Given the description of an element on the screen output the (x, y) to click on. 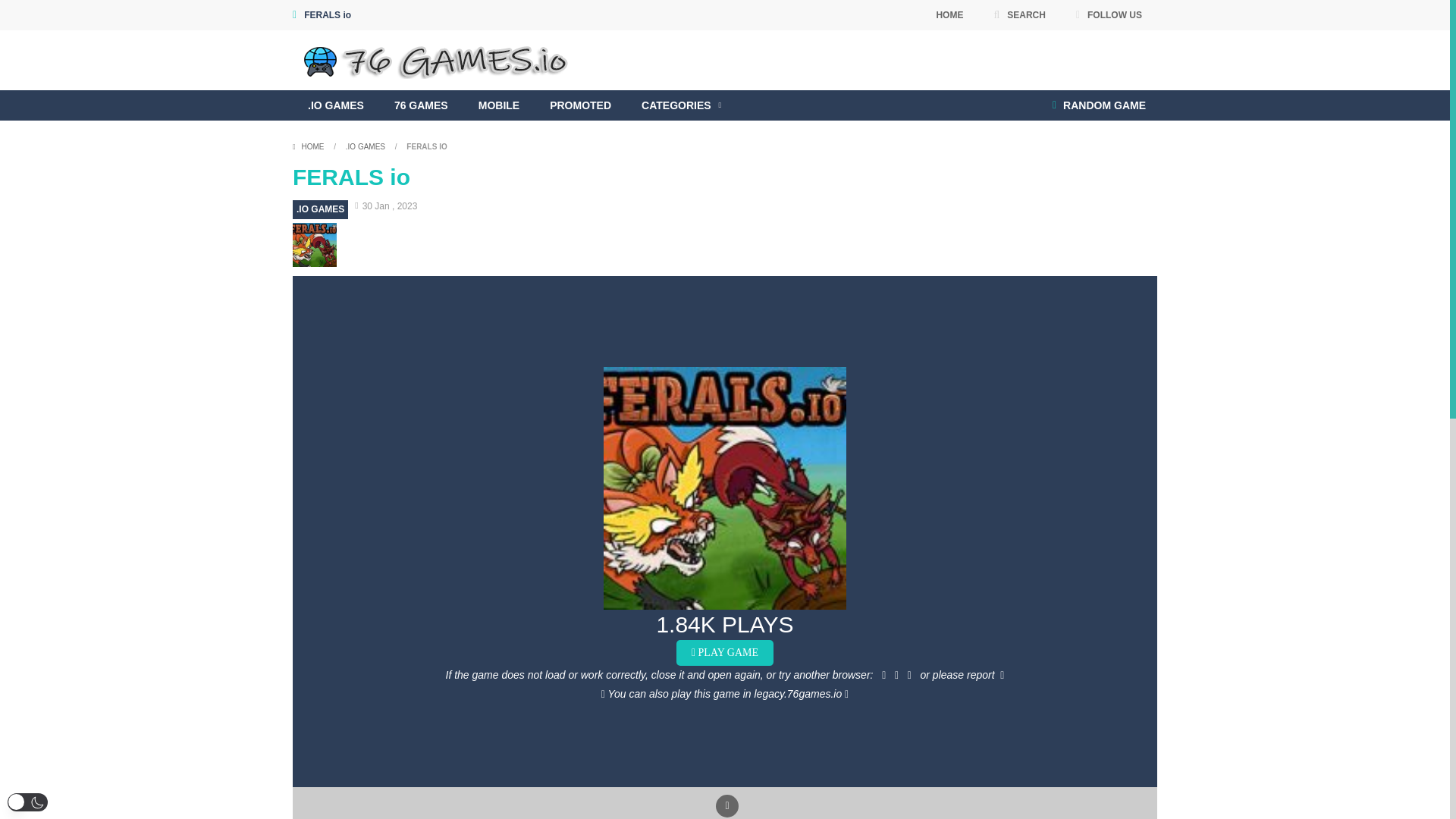
HOME (309, 146)
.IO GAMES (365, 146)
MOBILE (498, 105)
Play a random game! (1099, 105)
PROMOTED (580, 105)
.IO GAMES (319, 209)
76GAMES (439, 59)
76 GAMES (420, 105)
Home (309, 146)
HOME (949, 15)
You can also play this game in legacy.76games.io (724, 693)
.IO GAMES (335, 105)
PLAY GAME (725, 652)
76GAMES (439, 59)
Play ferals-io in legacy.76games.io (724, 693)
